Given the description of an element on the screen output the (x, y) to click on. 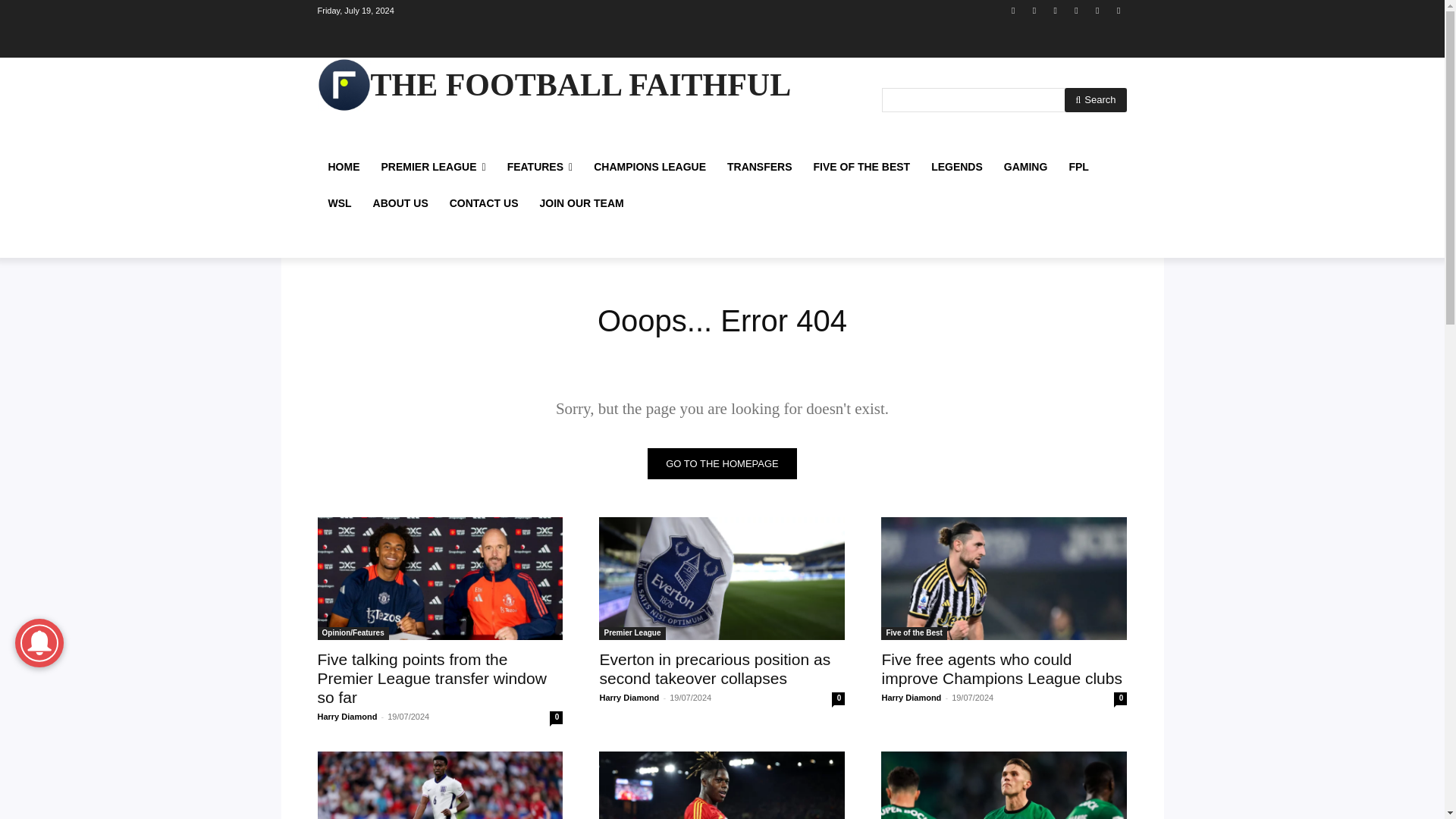
RSS (1055, 9)
Facebook (1013, 9)
TikTok (1075, 9)
Youtube (1117, 9)
Instagram (1034, 9)
Twitter (1097, 9)
Go to the homepage (721, 463)
